Given the description of an element on the screen output the (x, y) to click on. 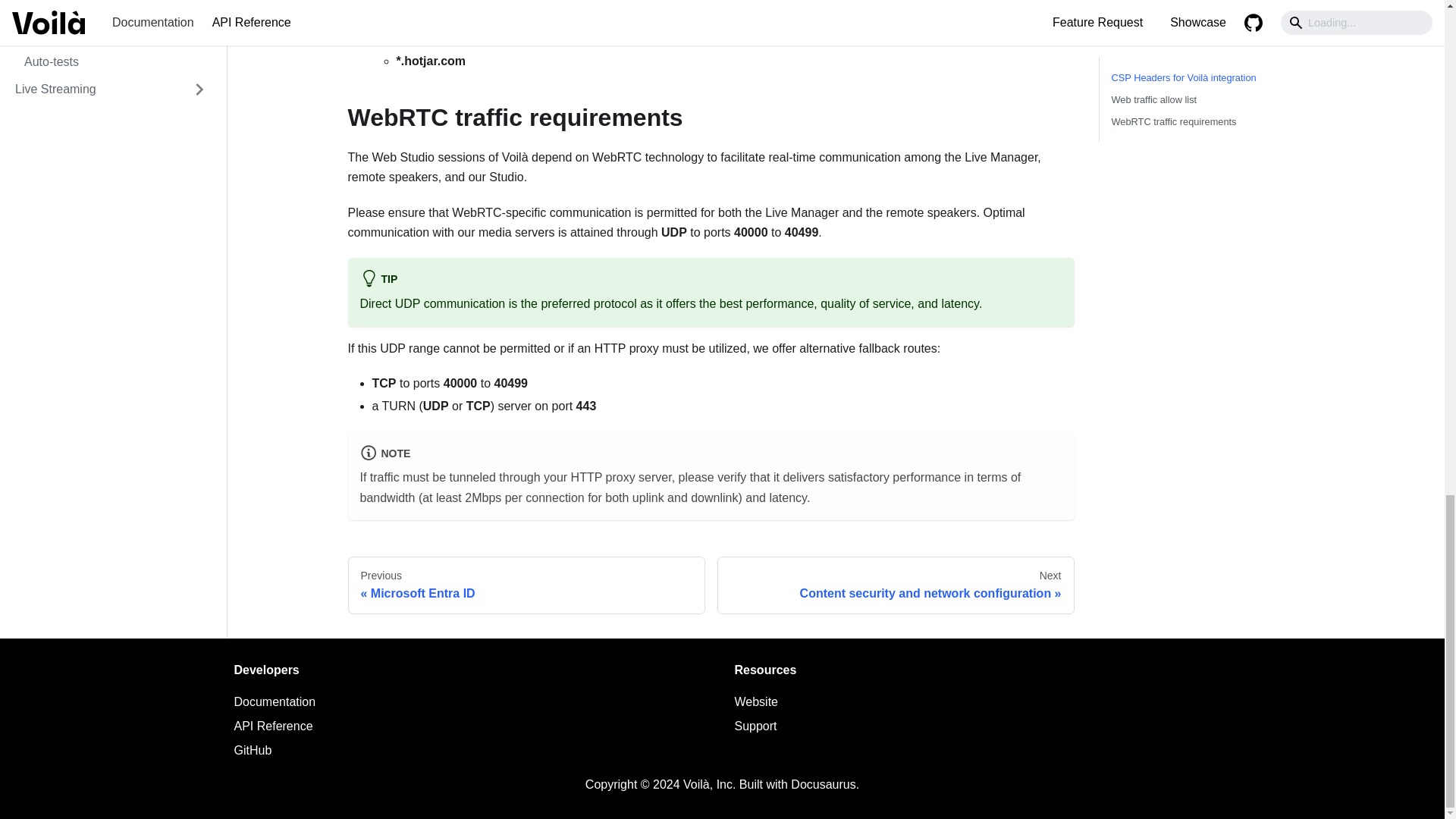
Documentation (273, 701)
GitHub (895, 585)
Website (251, 749)
Support (755, 701)
API Reference (754, 725)
